Given the description of an element on the screen output the (x, y) to click on. 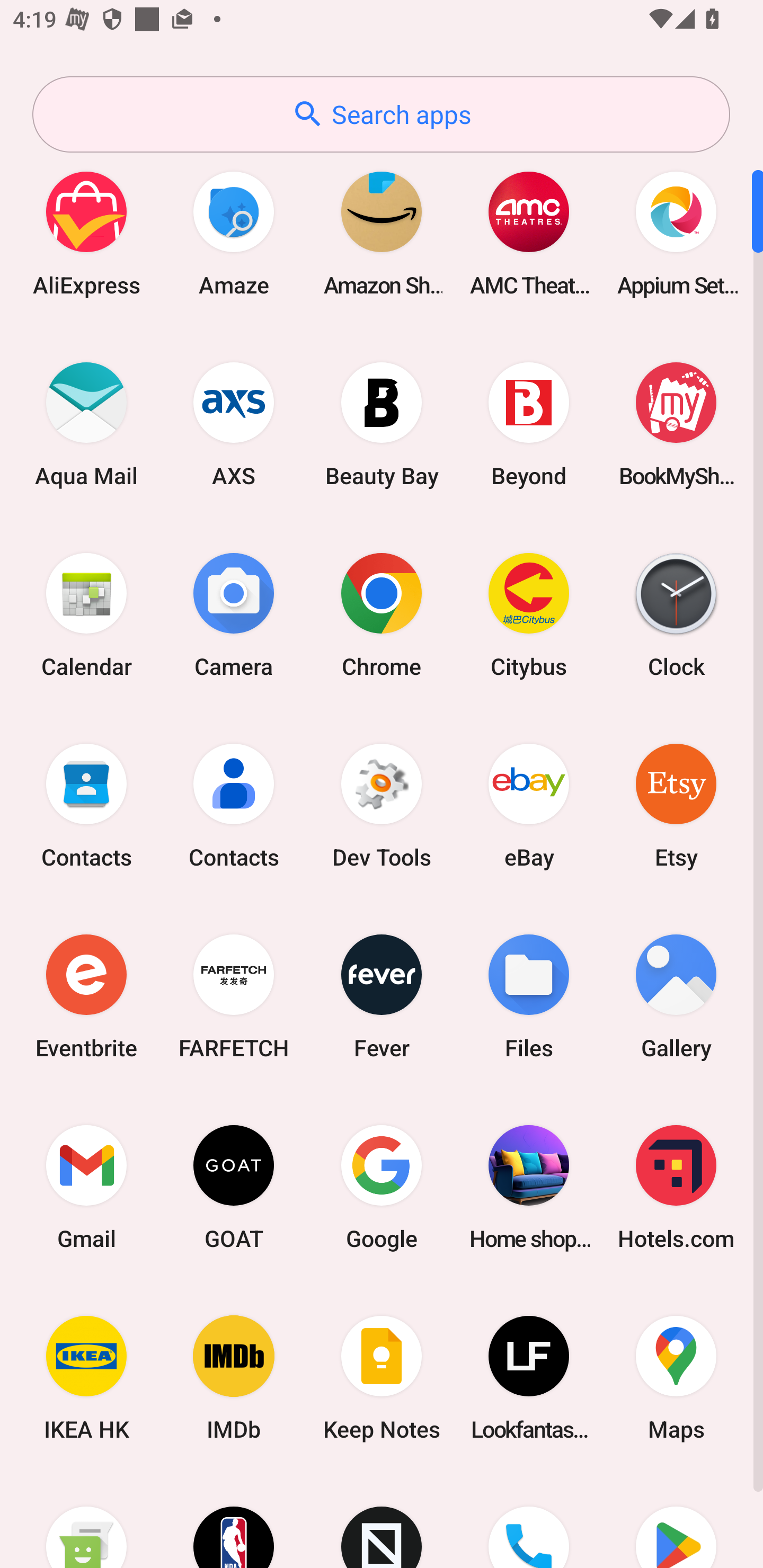
  Search apps (381, 114)
AliExpress (86, 233)
Amaze (233, 233)
Amazon Shopping (381, 233)
AMC Theatres (528, 233)
Appium Settings (676, 233)
Aqua Mail (86, 424)
AXS (233, 424)
Beauty Bay (381, 424)
Beyond (528, 424)
BookMyShow (676, 424)
Calendar (86, 614)
Camera (233, 614)
Chrome (381, 614)
Citybus (528, 614)
Clock (676, 614)
Contacts (86, 805)
Contacts (233, 805)
Dev Tools (381, 805)
eBay (528, 805)
Etsy (676, 805)
Eventbrite (86, 996)
FARFETCH (233, 996)
Fever (381, 996)
Files (528, 996)
Gallery (676, 996)
Gmail (86, 1186)
GOAT (233, 1186)
Google (381, 1186)
Home shopping (528, 1186)
Hotels.com (676, 1186)
IKEA HK (86, 1377)
IMDb (233, 1377)
Keep Notes (381, 1377)
Lookfantastic (528, 1377)
Maps (676, 1377)
